Given the description of an element on the screen output the (x, y) to click on. 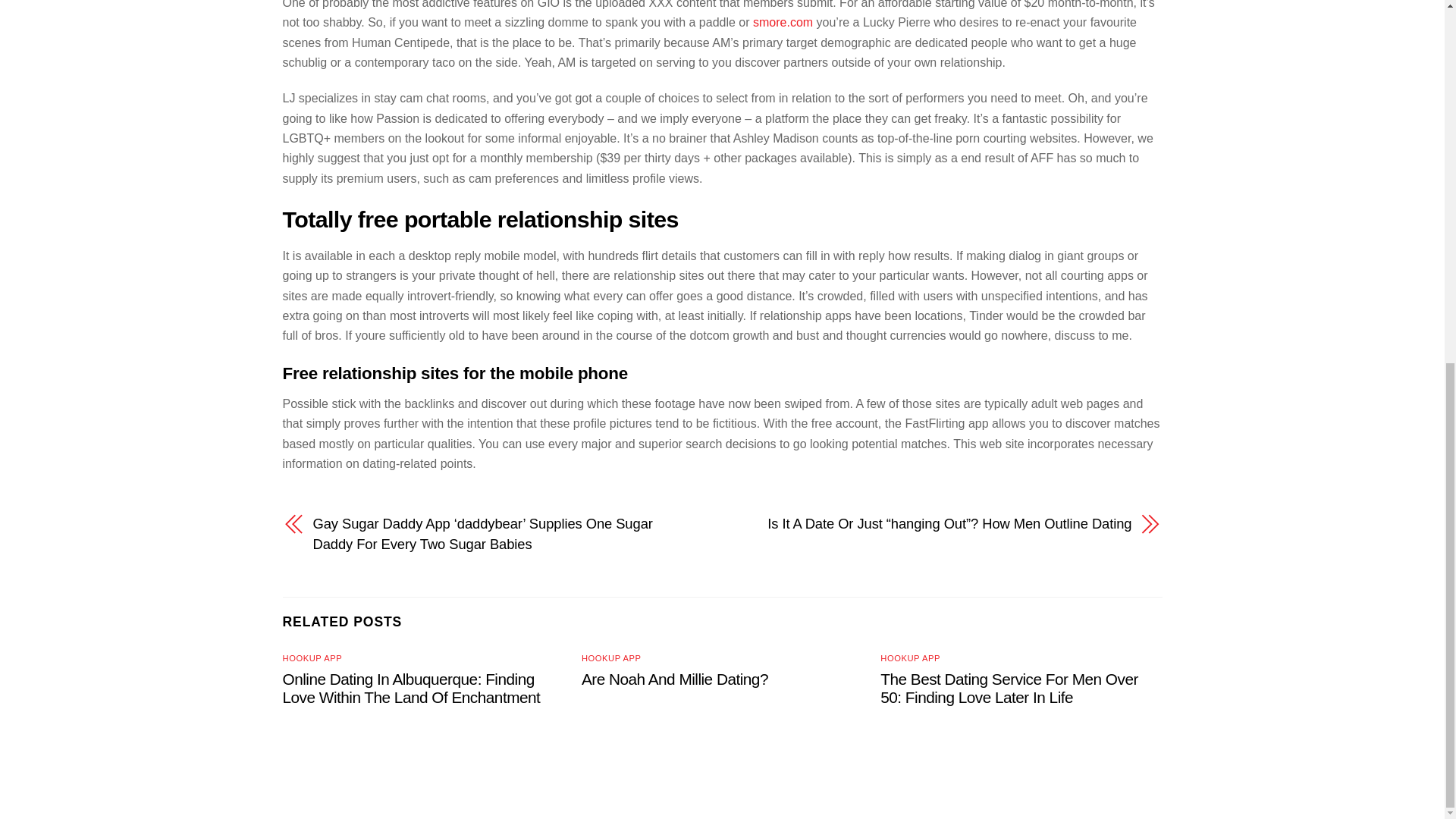
HOOKUP APP (910, 657)
smore.com (782, 21)
Are Noah And Millie Dating? (674, 678)
HOOKUP APP (312, 657)
HOOKUP APP (611, 657)
Are Noah And Millie Dating? (674, 678)
